Given the description of an element on the screen output the (x, y) to click on. 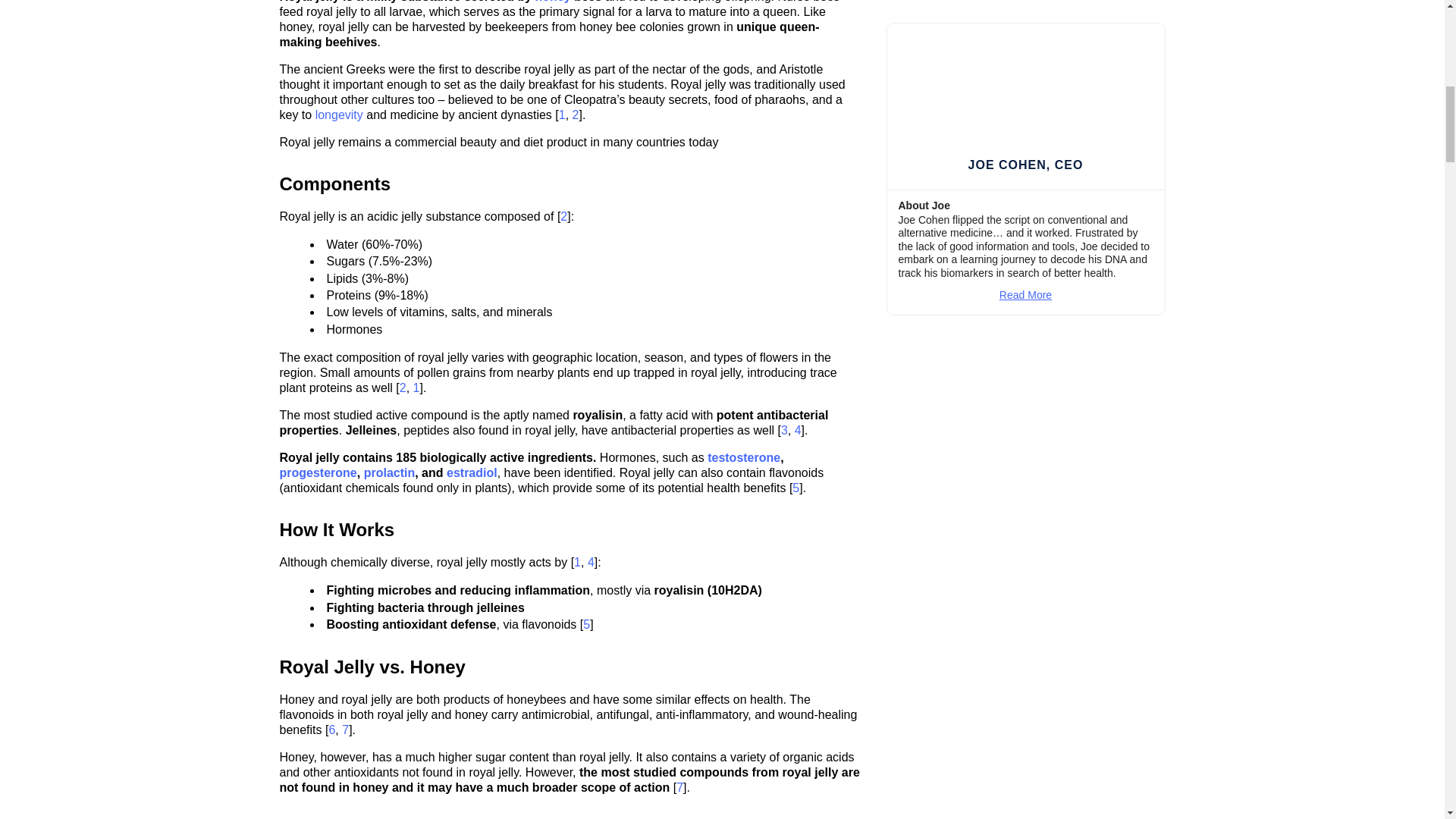
testosterone (743, 457)
honey (552, 1)
progesterone (317, 472)
longevity (338, 114)
